Given the description of an element on the screen output the (x, y) to click on. 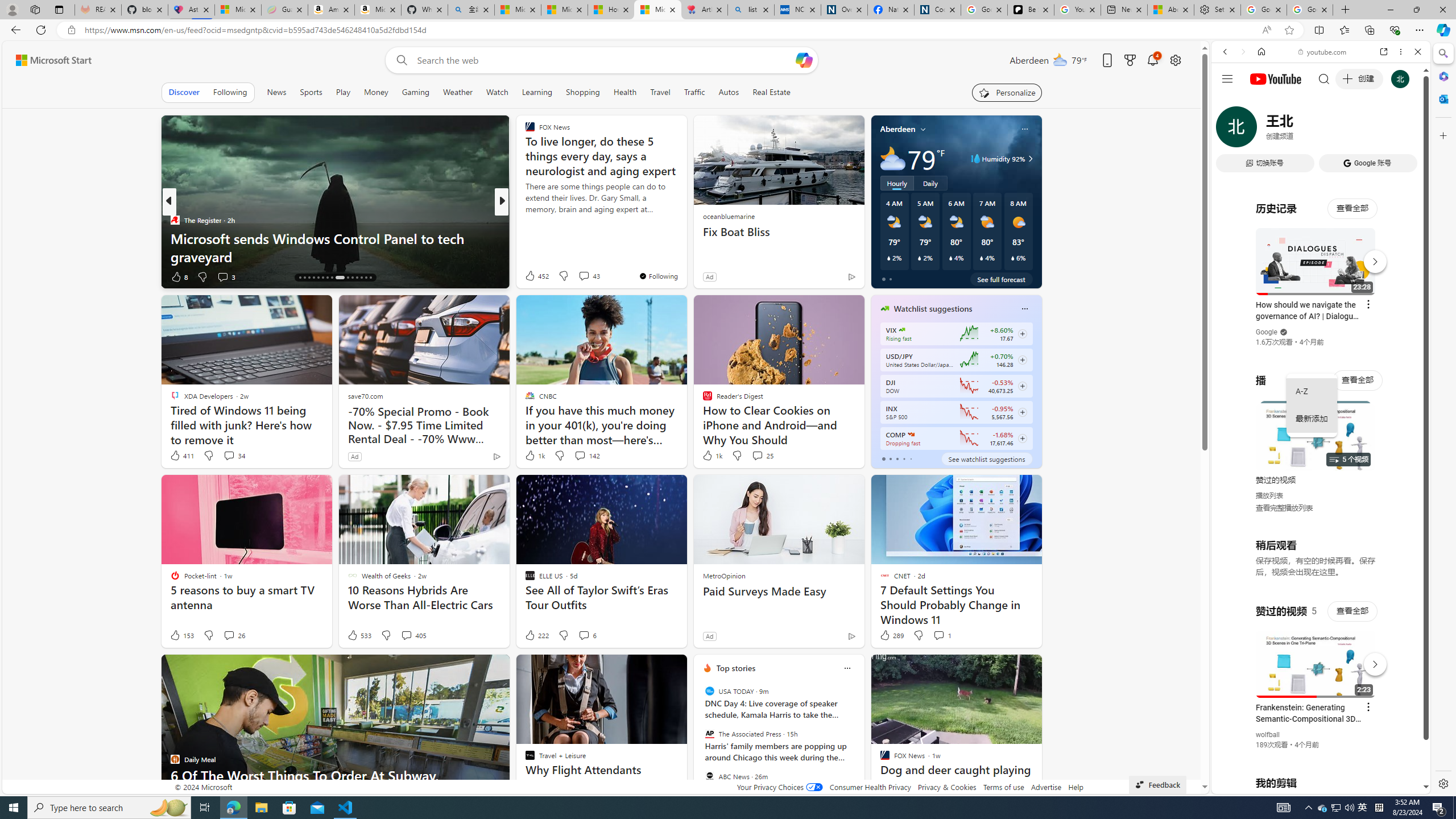
285 Like (532, 276)
WEB   (1230, 130)
AutomationID: tab-24 (339, 277)
View comments 197 Comment (587, 276)
#you (1315, 659)
Humidity 92% (1028, 158)
